Given the description of an element on the screen output the (x, y) to click on. 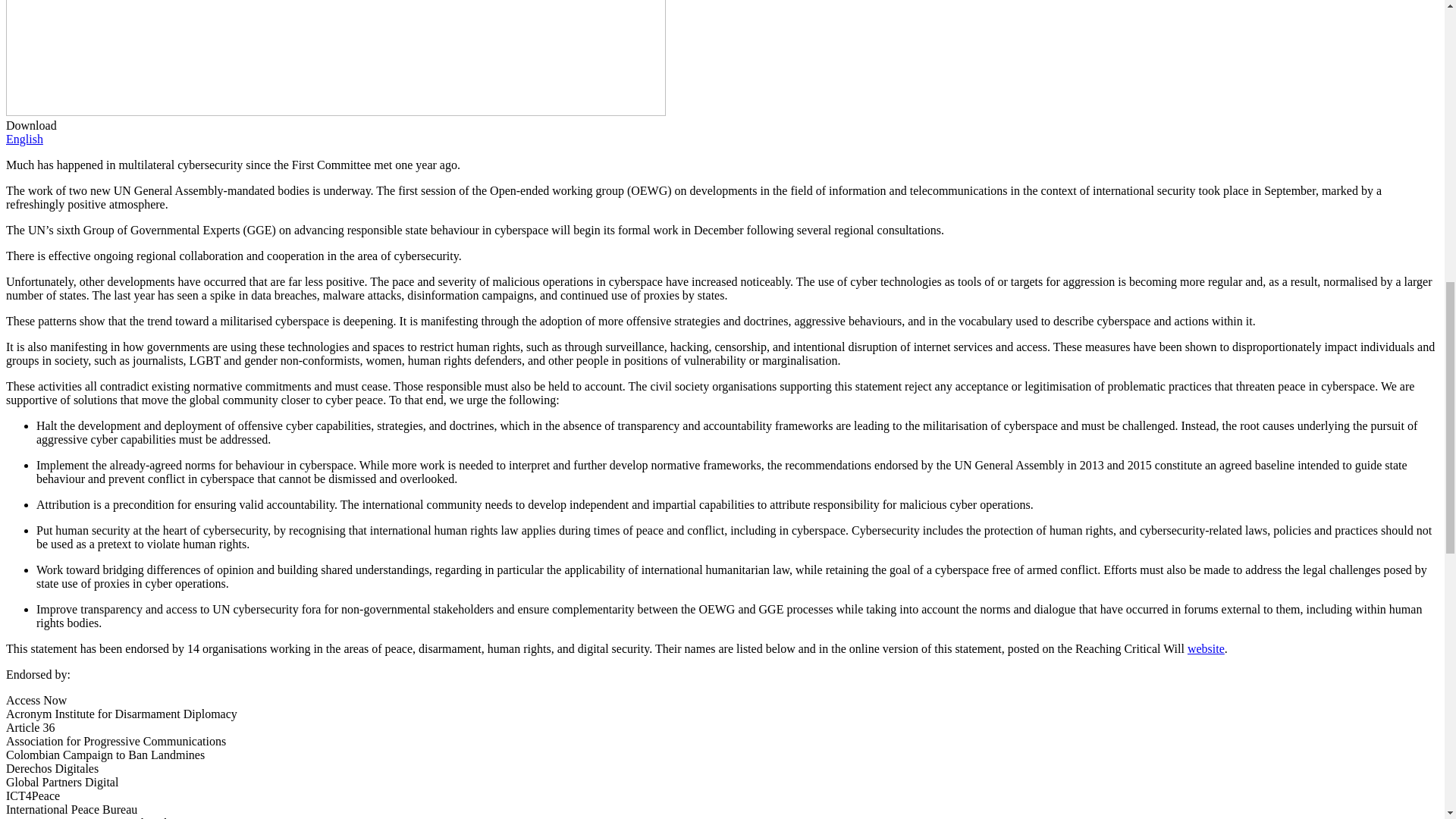
website (1206, 648)
English (24, 138)
